Given the description of an element on the screen output the (x, y) to click on. 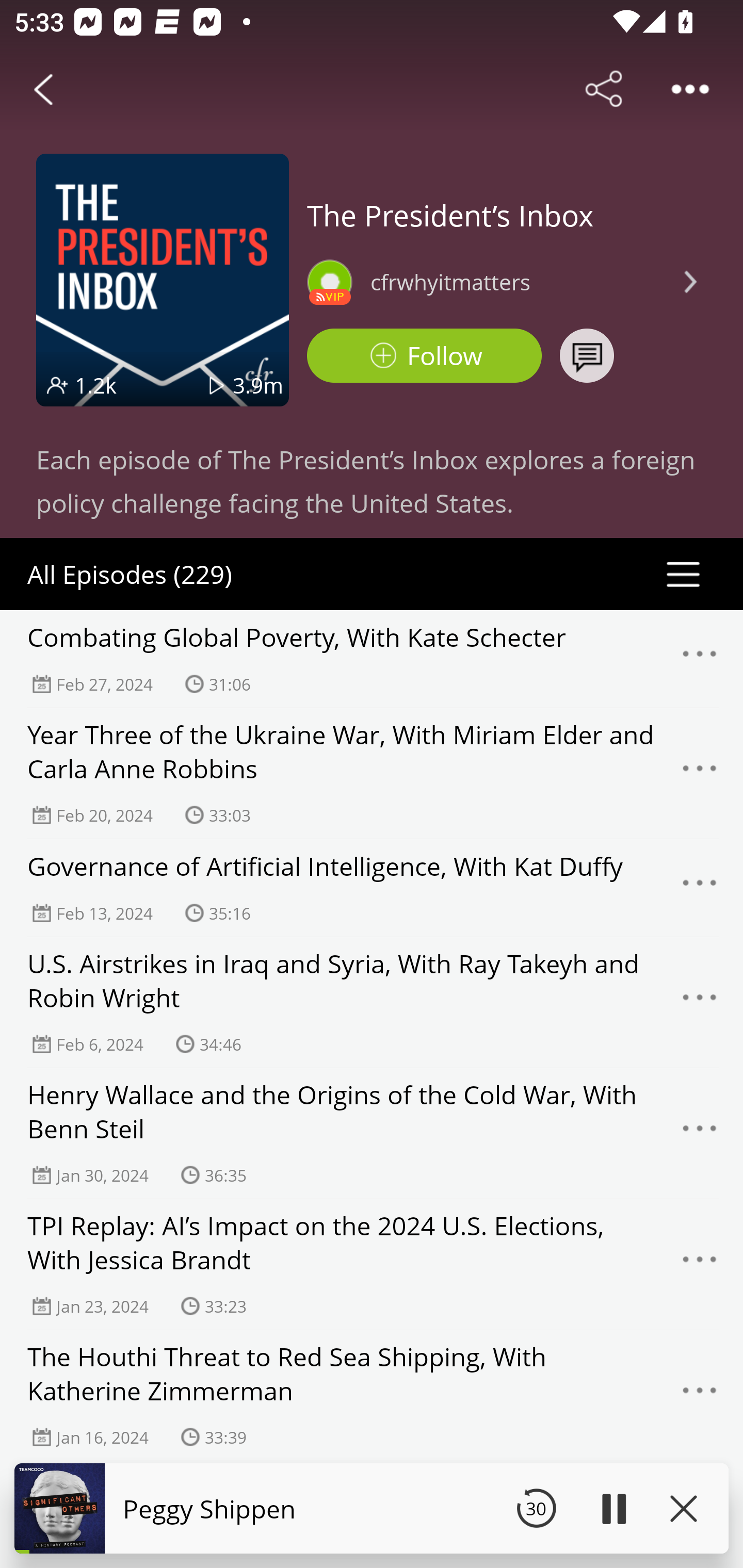
Back (43, 88)
Podbean Follow (423, 355)
1.2k (95, 384)
Menu (699, 659)
Menu (699, 773)
Menu (699, 888)
Menu (699, 1002)
Menu (699, 1133)
Menu (699, 1264)
Menu (699, 1395)
Play (613, 1507)
30 Seek Backward (536, 1508)
